Given the description of an element on the screen output the (x, y) to click on. 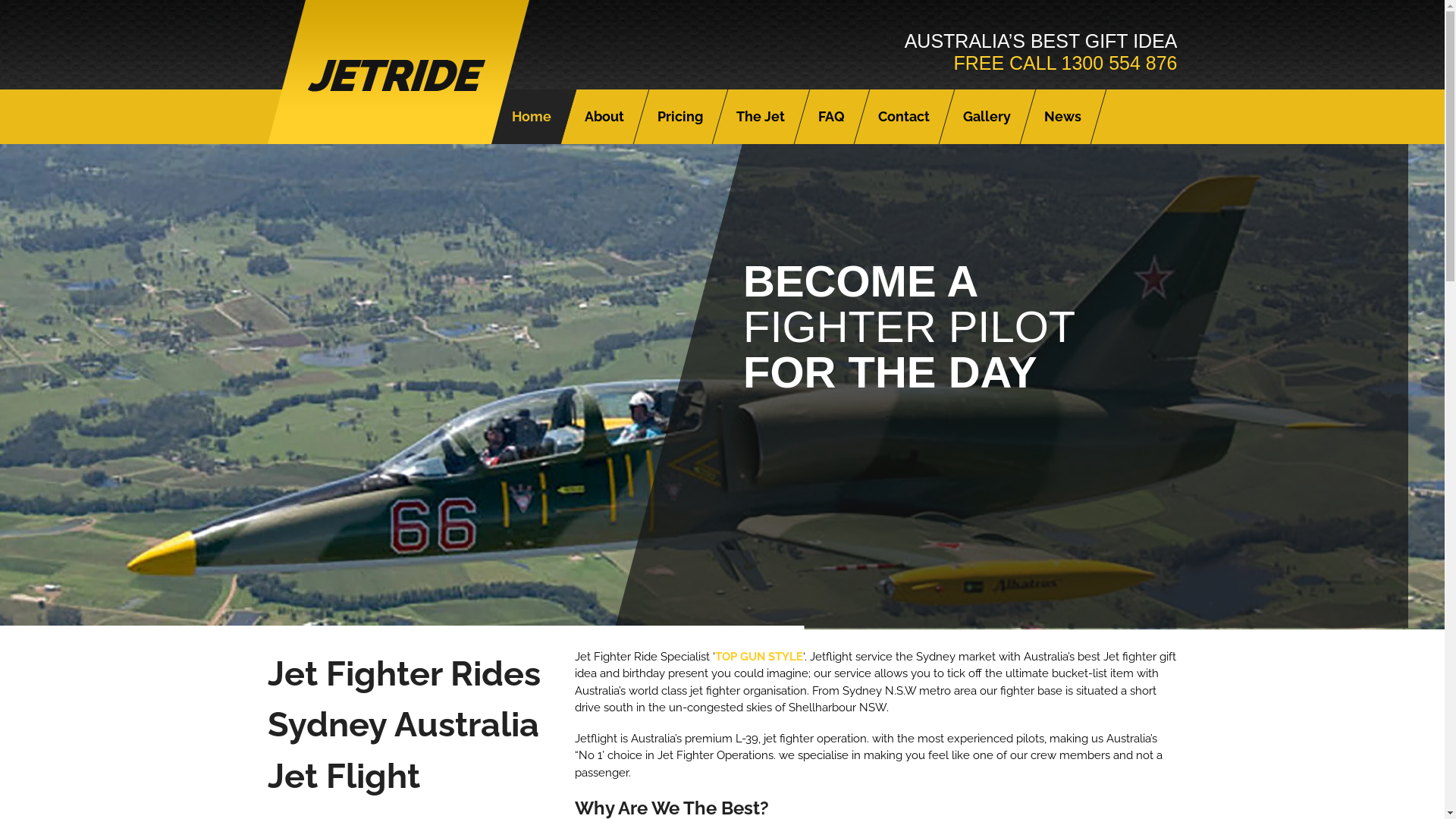
FREE CALL 1300 554 876 Element type: text (1064, 62)
Contact Element type: text (903, 116)
Pricing Element type: text (679, 116)
News Element type: text (1061, 116)
Gallery Element type: text (986, 116)
FAQ Element type: text (830, 116)
Home Element type: text (530, 116)
The Jet Element type: text (759, 116)
About Element type: text (603, 116)
jflight Element type: hover (397, 135)
